Given the description of an element on the screen output the (x, y) to click on. 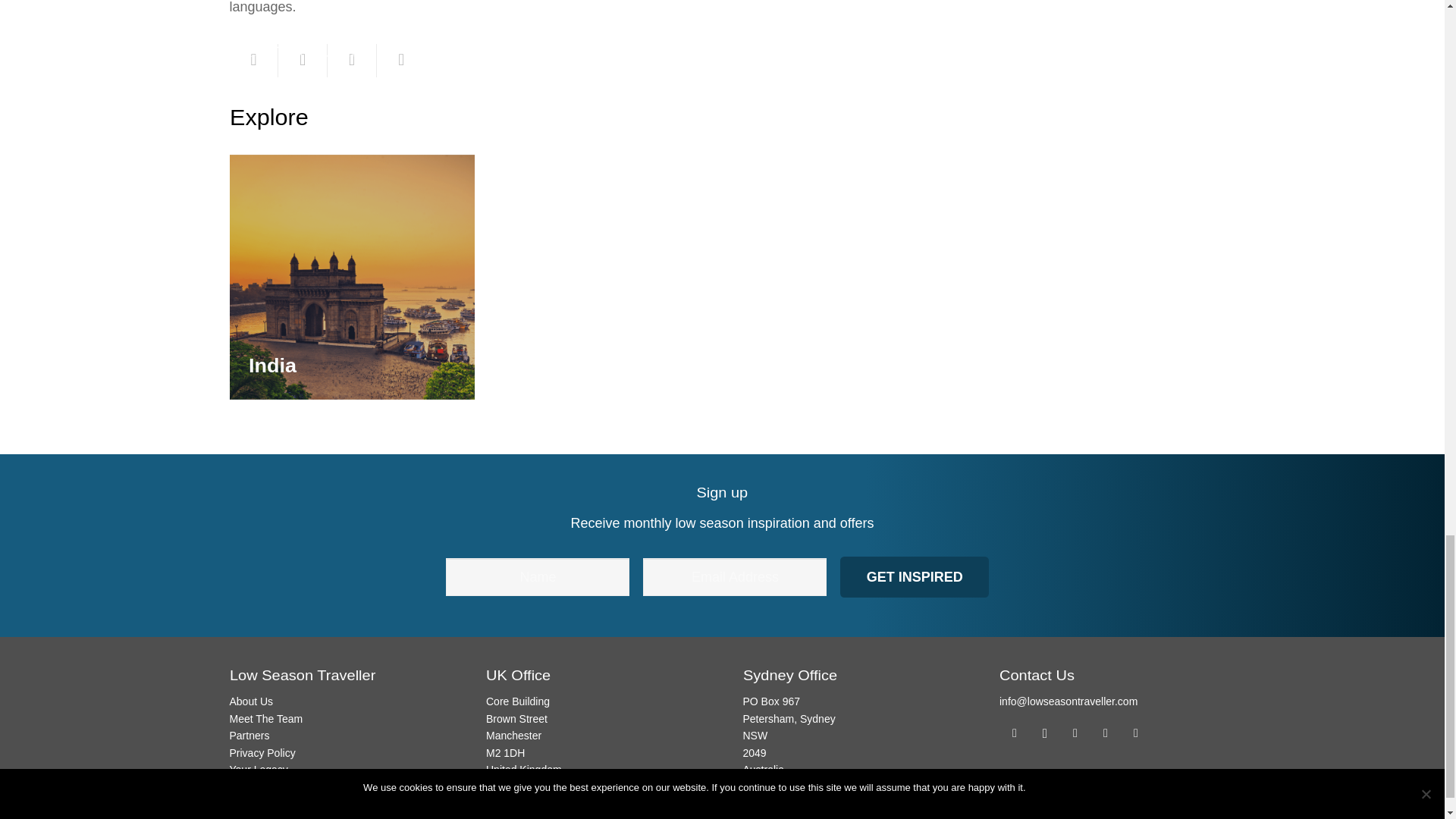
About Us (250, 701)
Share this (401, 60)
Facebook (1013, 733)
Get Inspired (914, 576)
Share this (302, 60)
India (272, 365)
Tweet this (352, 60)
LinkedIn (1105, 733)
Email this (253, 60)
Twitter (1074, 733)
Instagram (1044, 733)
Get Inspired (914, 576)
YouTube (1136, 733)
